Given the description of an element on the screen output the (x, y) to click on. 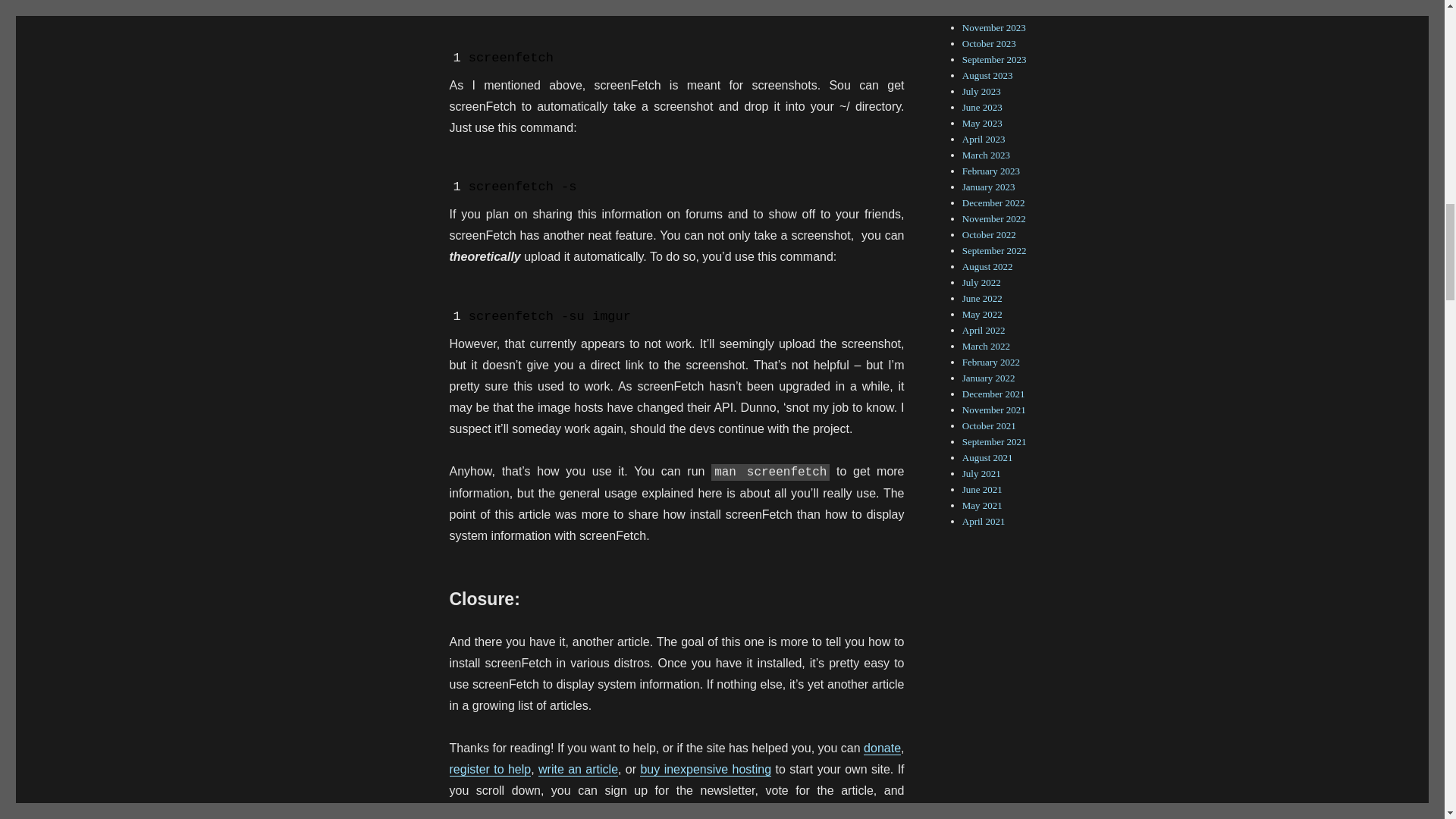
register to help (489, 768)
buy inexpensive hosting (705, 768)
write an article (577, 768)
donate (882, 748)
